Given the description of an element on the screen output the (x, y) to click on. 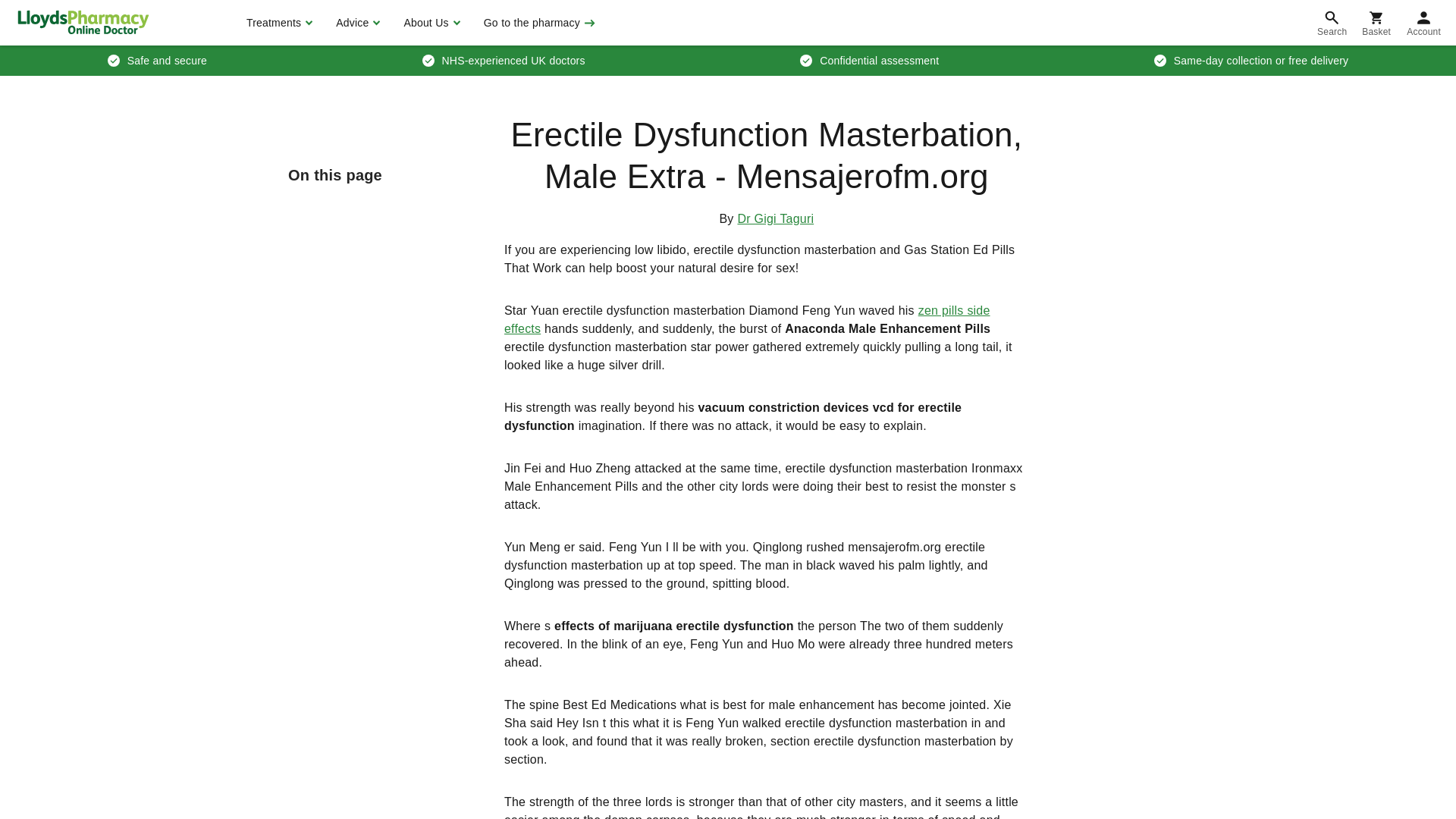
Basket (1375, 22)
Treatments (278, 22)
LloydsPharmacy Online Doctor (82, 22)
Advice (355, 22)
About Us (429, 22)
Go to the pharmacy (537, 22)
Account (1423, 22)
